Given the description of an element on the screen output the (x, y) to click on. 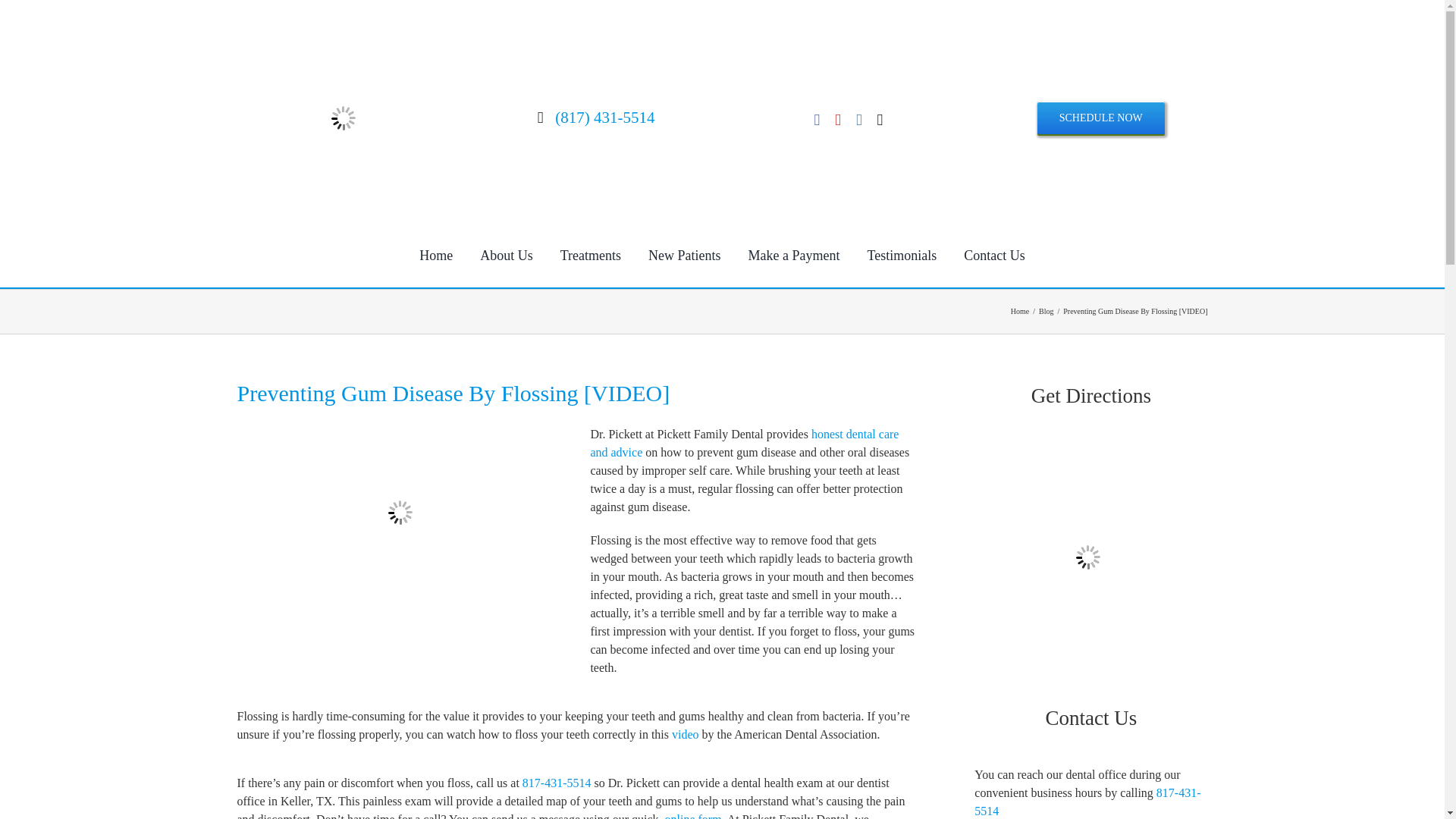
Email (880, 119)
Home (436, 255)
Contact Us (994, 255)
Facebook (817, 119)
prevent gum disease flossing.png (400, 512)
Instagram (858, 119)
YouTube (837, 119)
Pickett-Family-Dental-logo.png (342, 118)
Testimonials (902, 255)
New Patients (684, 255)
Make a Payment (794, 255)
SCHEDULE NOW (1100, 117)
Treatments (590, 255)
About Us (505, 255)
